Given the description of an element on the screen output the (x, y) to click on. 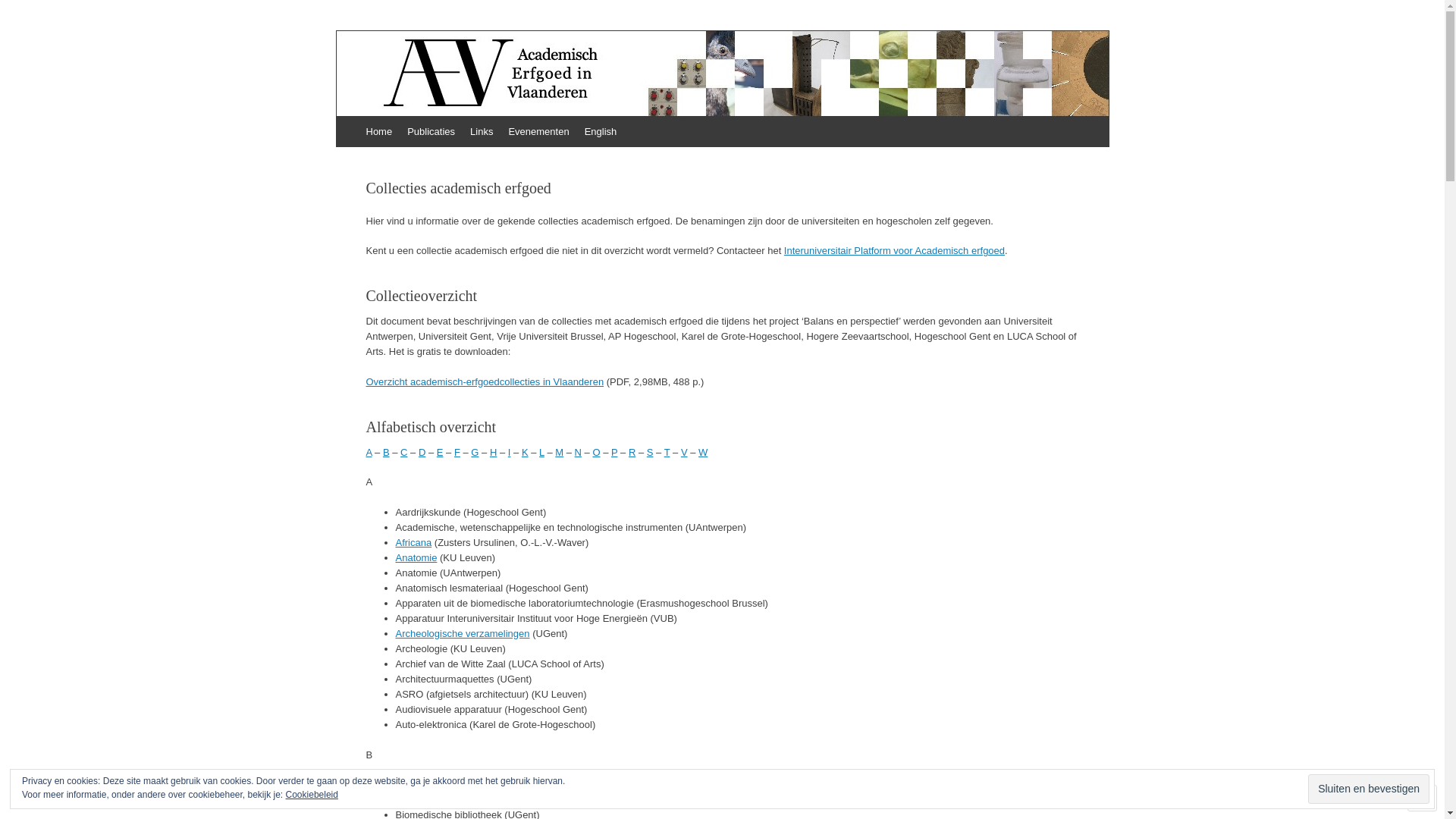
R Element type: text (631, 451)
Anatomie Element type: text (416, 557)
Archeologische verzamelingen Element type: text (462, 633)
H Element type: text (492, 451)
Africana Element type: text (413, 542)
A Element type: text (368, 451)
K Element type: text (524, 451)
Evenementen Element type: text (538, 131)
W Element type: text (702, 451)
T Element type: text (667, 451)
M Element type: text (559, 451)
Cookiebeleid Element type: text (311, 794)
N Element type: text (577, 451)
C Element type: text (403, 451)
D Element type: text (421, 451)
O Element type: text (595, 451)
V Element type: text (683, 451)
Publicaties Element type: text (430, 131)
Interuniversitair Platform voor Academisch erfgoed Element type: text (894, 250)
G Element type: text (474, 451)
S Element type: text (649, 451)
Academisch Erfgoed in Vlaanderen Element type: text (549, 81)
E Element type: text (439, 451)
Home Element type: text (378, 131)
Sluiten en bevestigen Element type: text (1368, 788)
English Element type: text (600, 131)
L Element type: text (541, 451)
B Element type: text (385, 451)
Links Element type: text (481, 131)
I Element type: text (509, 451)
Overzicht academisch-erfgoedcollecties in Vlaanderen Element type: text (484, 381)
F Element type: text (457, 451)
P Element type: text (614, 451)
